Given the description of an element on the screen output the (x, y) to click on. 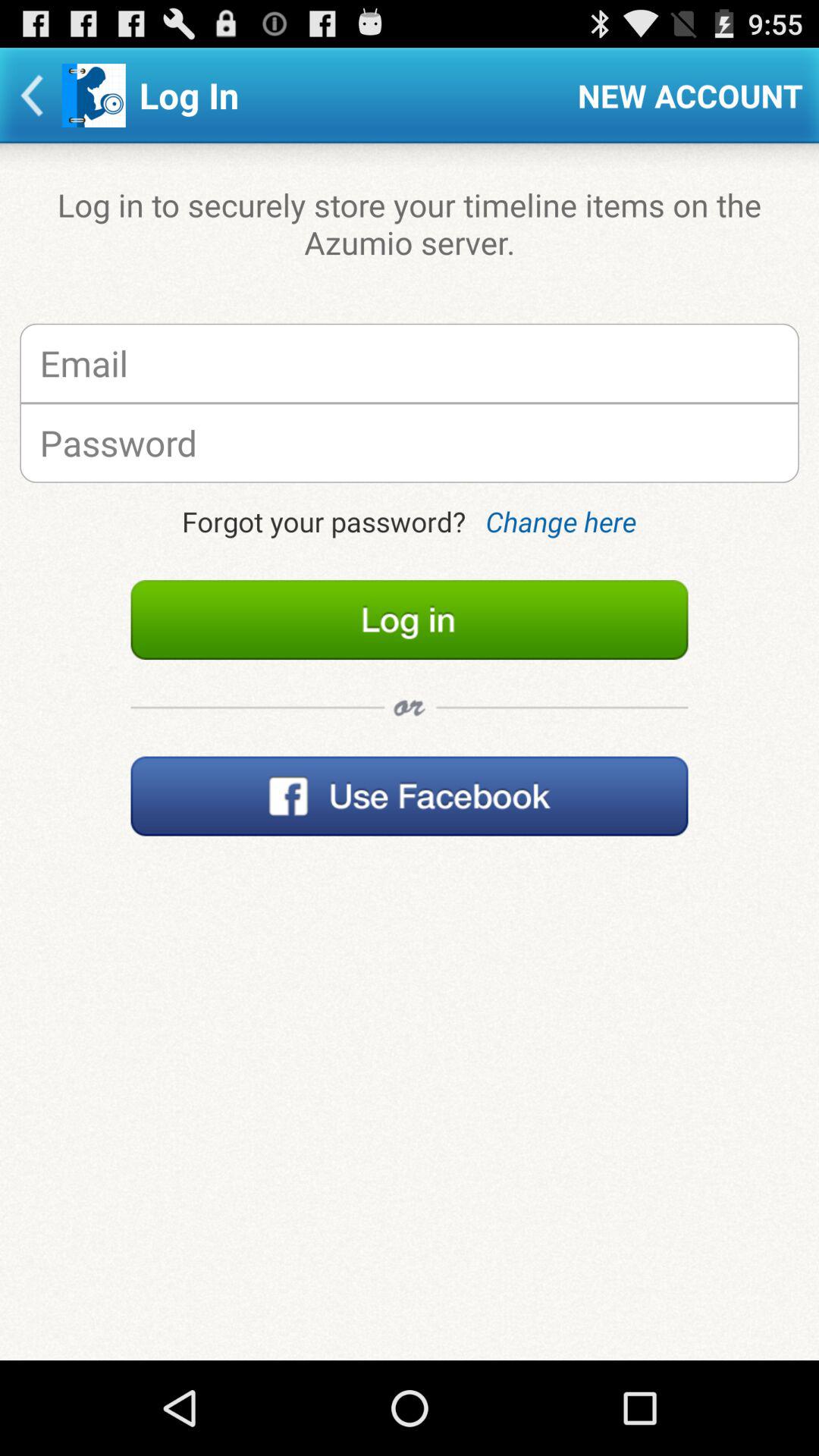
flip until the change here (560, 521)
